Given the description of an element on the screen output the (x, y) to click on. 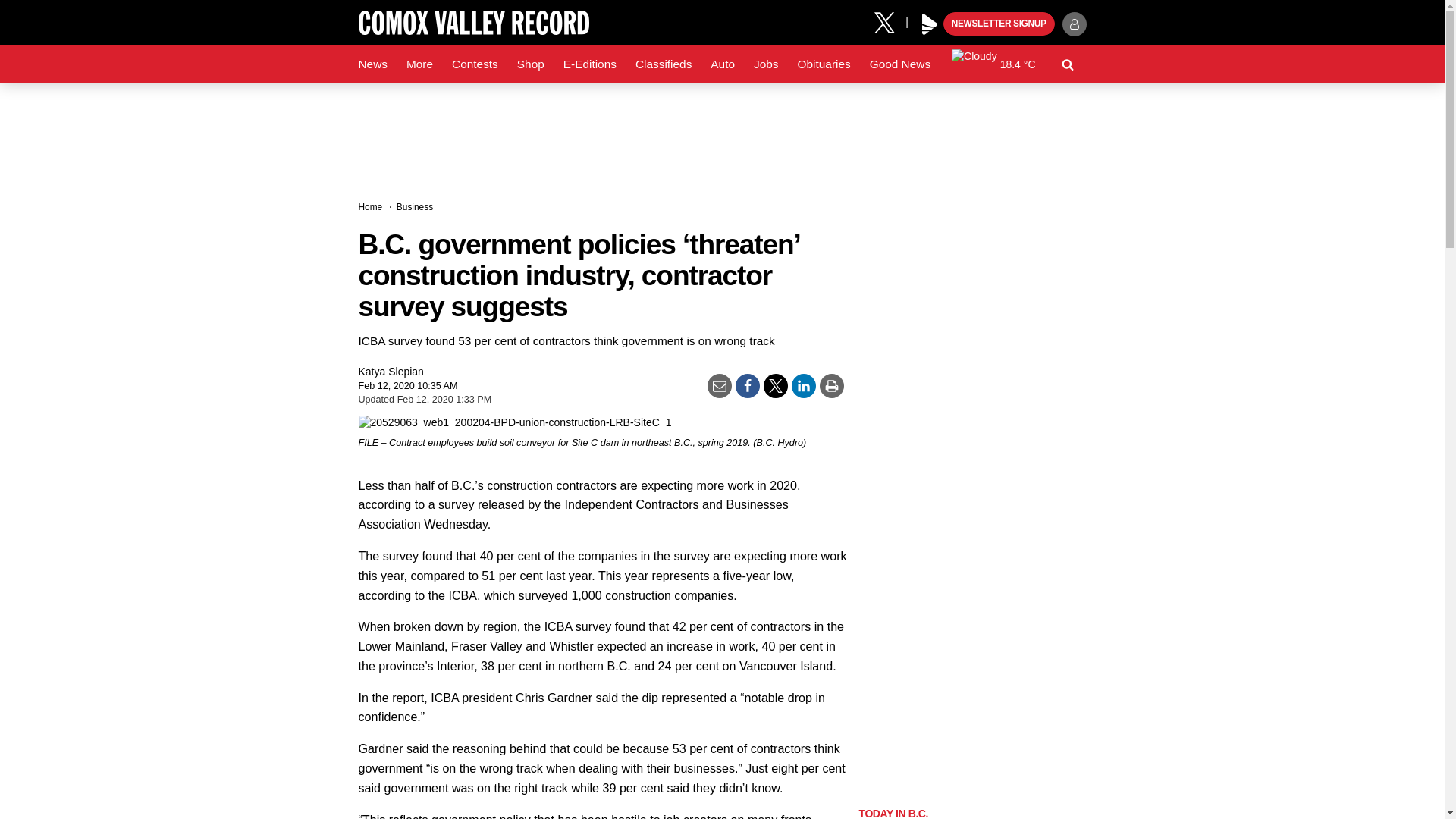
Black Press Media (929, 24)
X (889, 21)
News (372, 64)
Play (929, 24)
NEWSLETTER SIGNUP (998, 24)
